Given the description of an element on the screen output the (x, y) to click on. 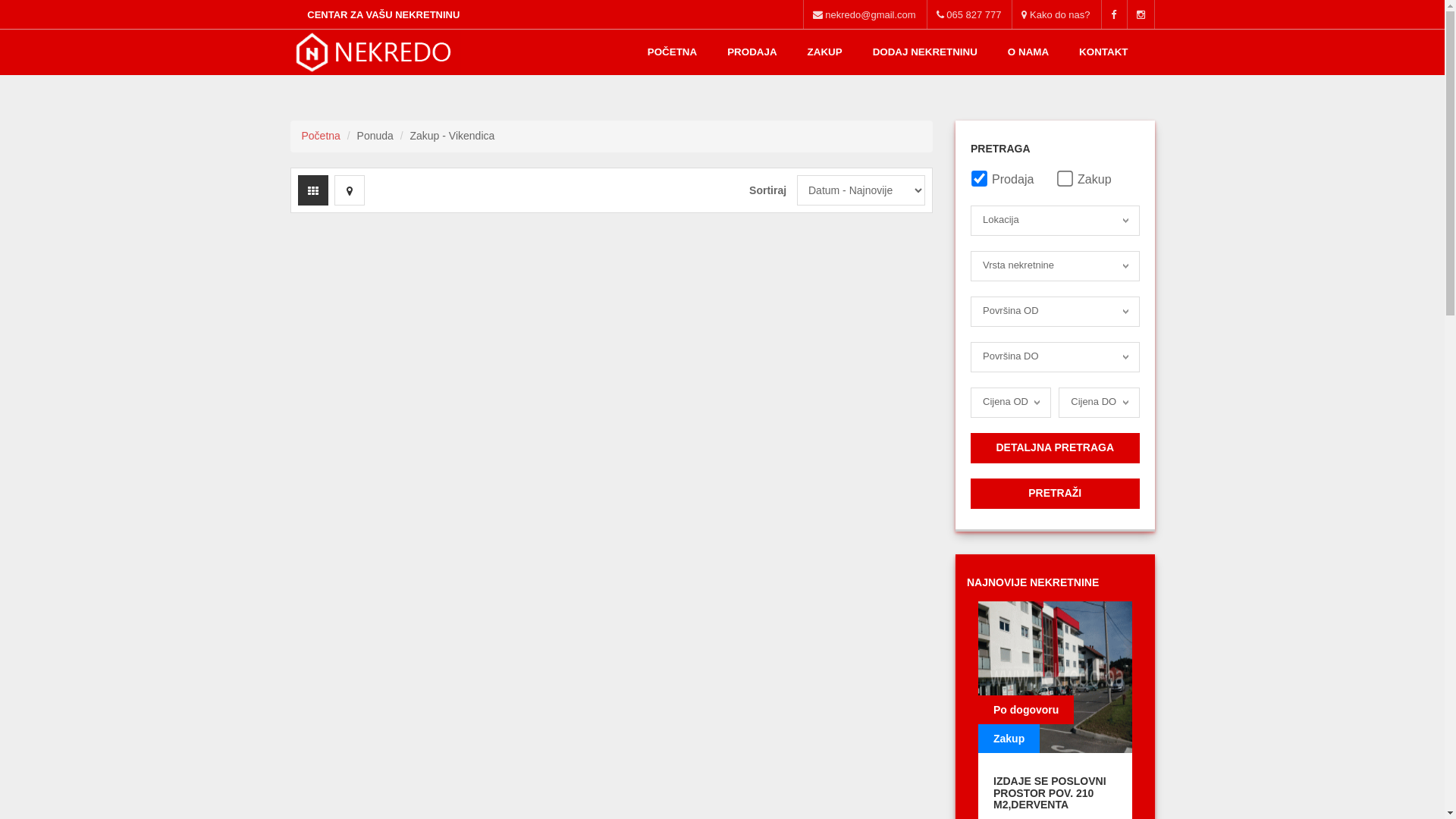
DODAJ NEKRETNINU Element type: text (924, 52)
Lokacija Element type: text (1054, 220)
IZDAJE SE POSLOVNI PROSTOR POV. 210 M2,DERVENTA Element type: text (1049, 792)
Cijena DO Element type: text (1098, 402)
Cijena OD Element type: text (1010, 402)
KONTAKT Element type: text (1102, 52)
DETALJNA PRETRAGA Element type: text (1054, 448)
ZAKUP Element type: text (824, 52)
Kako do nas? Element type: text (1055, 14)
065 827 777 Element type: text (968, 14)
PRODAJA Element type: text (751, 52)
nekredo@gmail.com Element type: text (864, 14)
Po dogovoru Zakup Element type: text (1055, 677)
O NAMA Element type: text (1027, 52)
Vrsta nekretnine Element type: text (1054, 266)
